Given the description of an element on the screen output the (x, y) to click on. 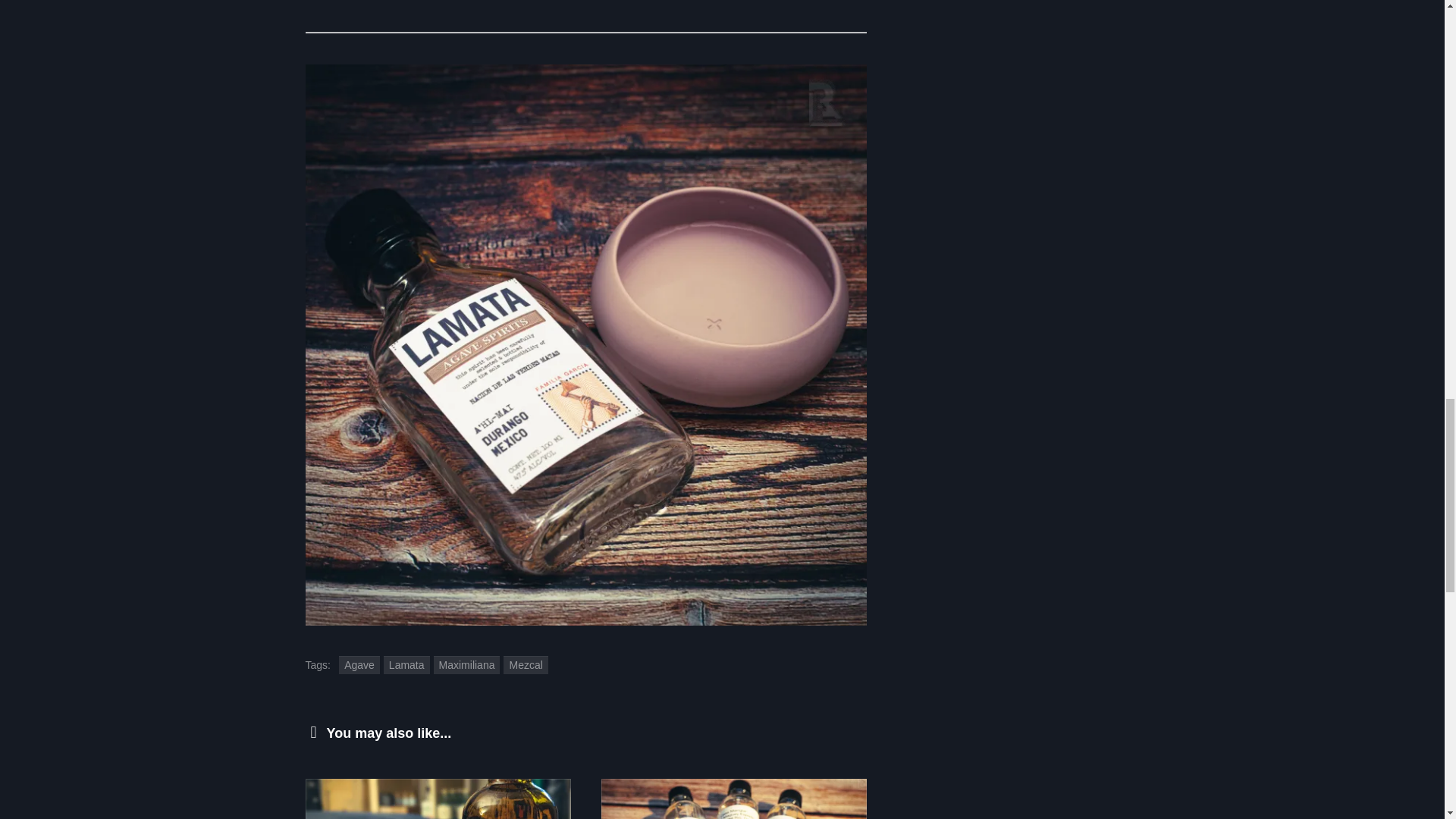
Mezcal (525, 665)
Lamata (406, 665)
Maximiliana (466, 665)
Agave (359, 665)
